Given the description of an element on the screen output the (x, y) to click on. 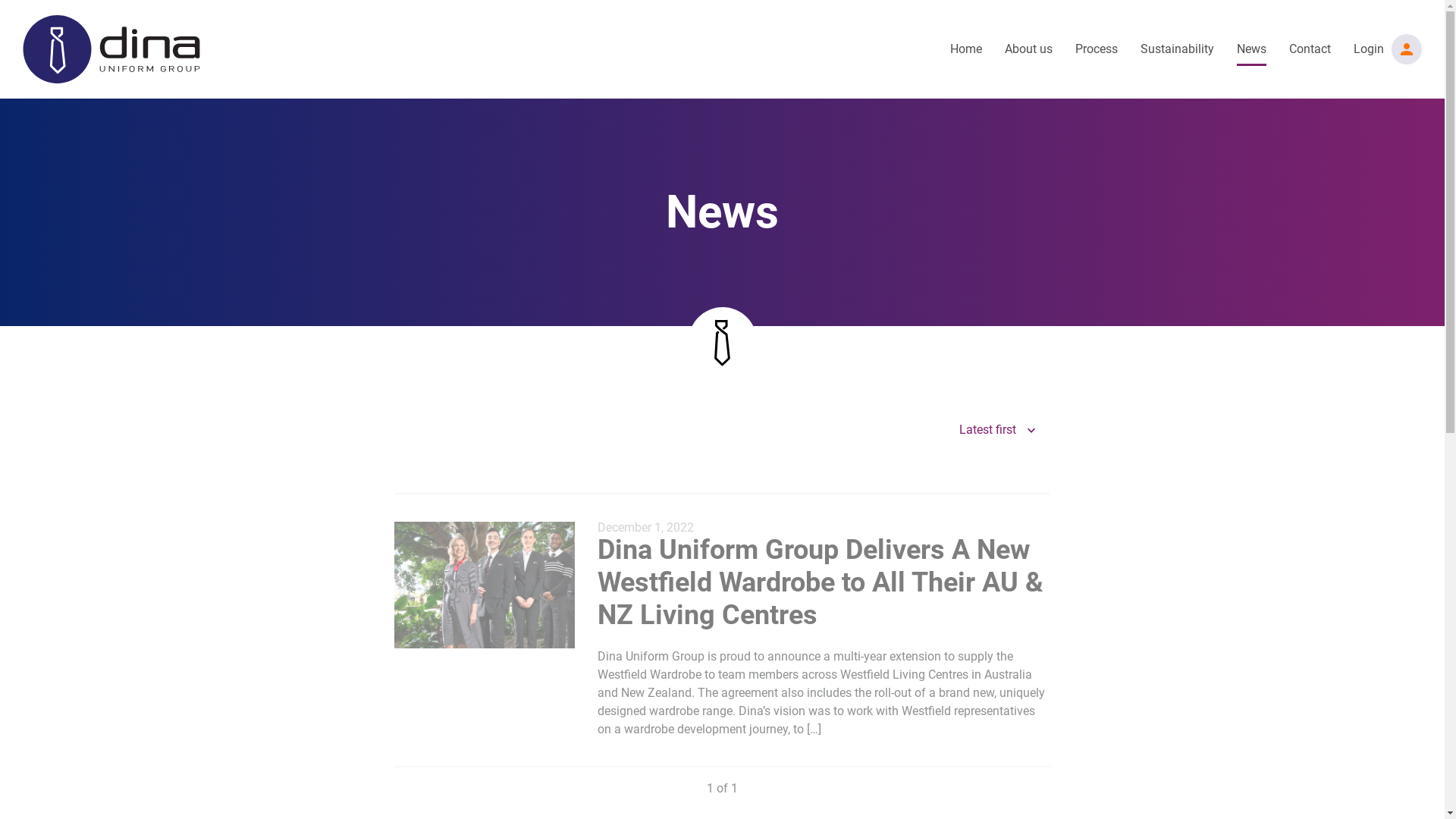
About us Element type: text (1028, 49)
Contact Element type: text (1309, 49)
Sustainability Element type: text (1177, 49)
Home Element type: text (966, 49)
Process Element type: text (1096, 49)
News Element type: text (1251, 49)
Login Element type: text (1368, 49)
